Given the description of an element on the screen output the (x, y) to click on. 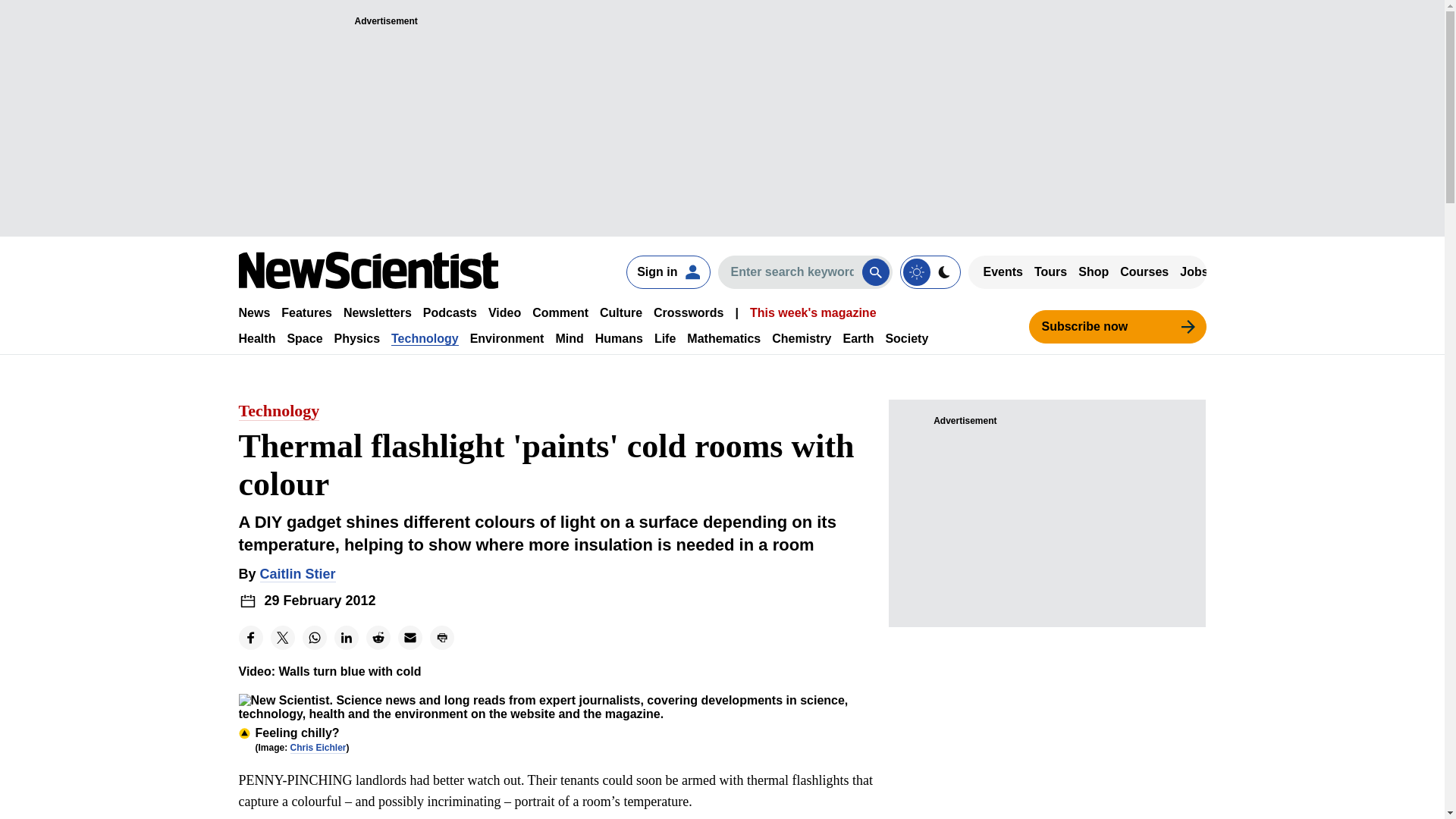
Life (664, 338)
Courses (1144, 272)
Mathematics (723, 338)
Calendar icon (247, 600)
Events (1002, 272)
Link to the homepage (367, 270)
News (253, 313)
Humans (619, 338)
Shop (1093, 272)
Society (906, 338)
